Given the description of an element on the screen output the (x, y) to click on. 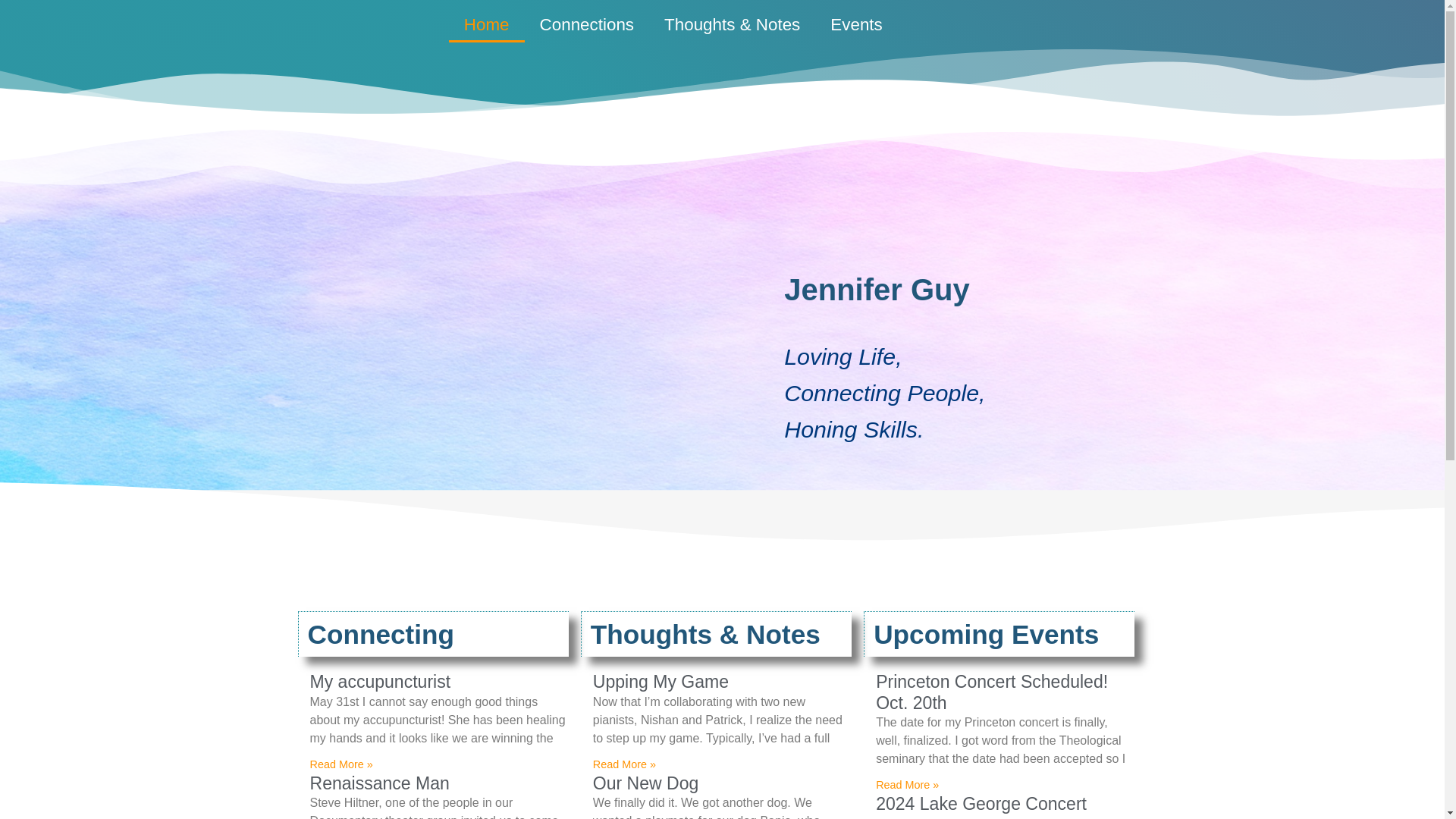
Upping My Game (660, 681)
Events (855, 24)
2024 Lake George Concert (981, 803)
Upcoming Events (986, 634)
Connections (586, 24)
Our New Dog (645, 783)
Renaissance Man (378, 783)
Princeton Concert Scheduled! Oct. 20th (992, 691)
Home (486, 24)
Connecting (380, 634)
My accupuncturist (378, 681)
